Given the description of an element on the screen output the (x, y) to click on. 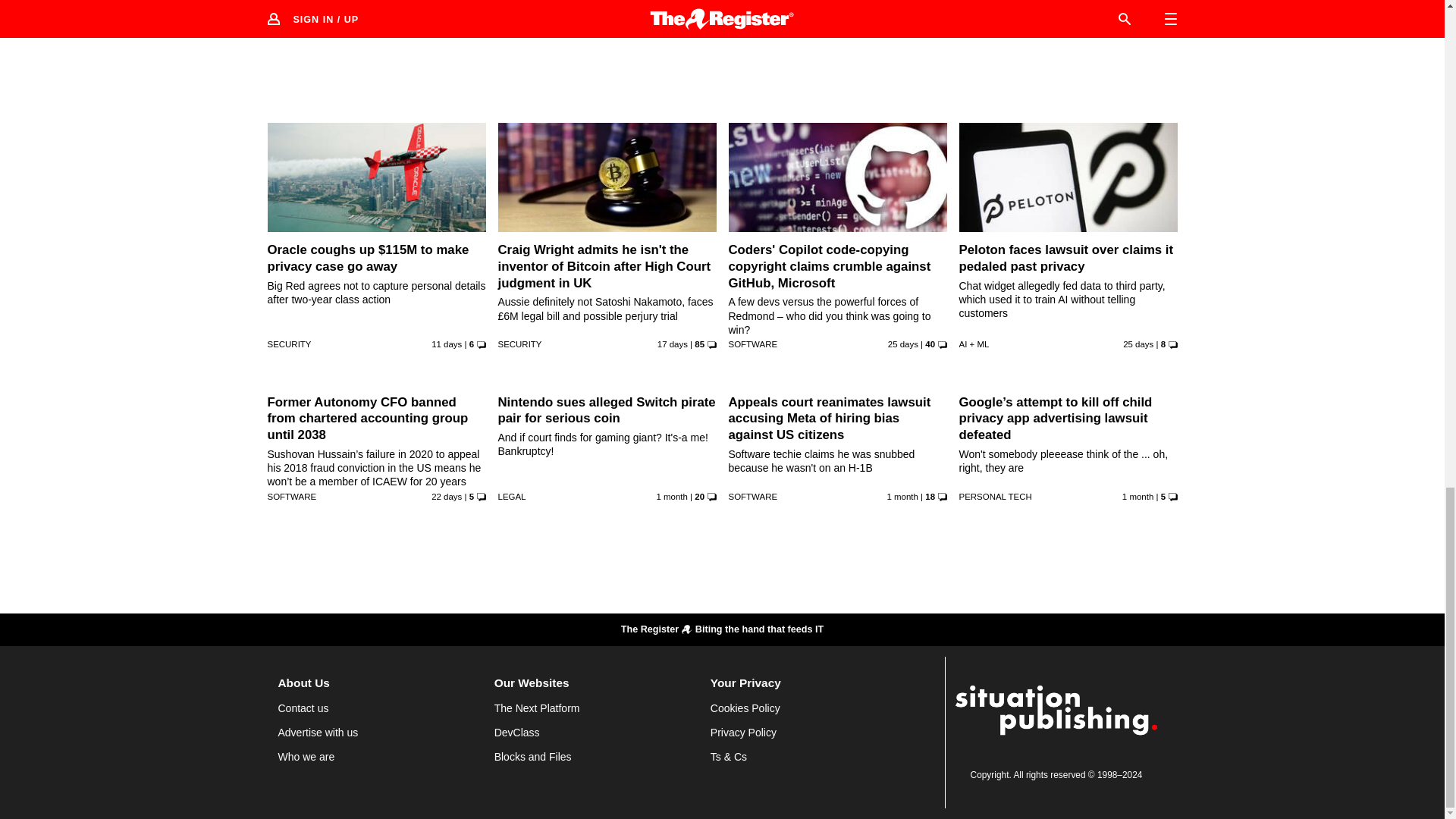
2 Jul 2024 12:37 (671, 496)
8 Jul 2024 23:24 (903, 343)
22 Jul 2024 13:45 (445, 343)
8 Jul 2024 18:1 (1137, 343)
17 Jul 2024 7:33 (672, 343)
11 Jul 2024 16:5 (445, 496)
